Given the description of an element on the screen output the (x, y) to click on. 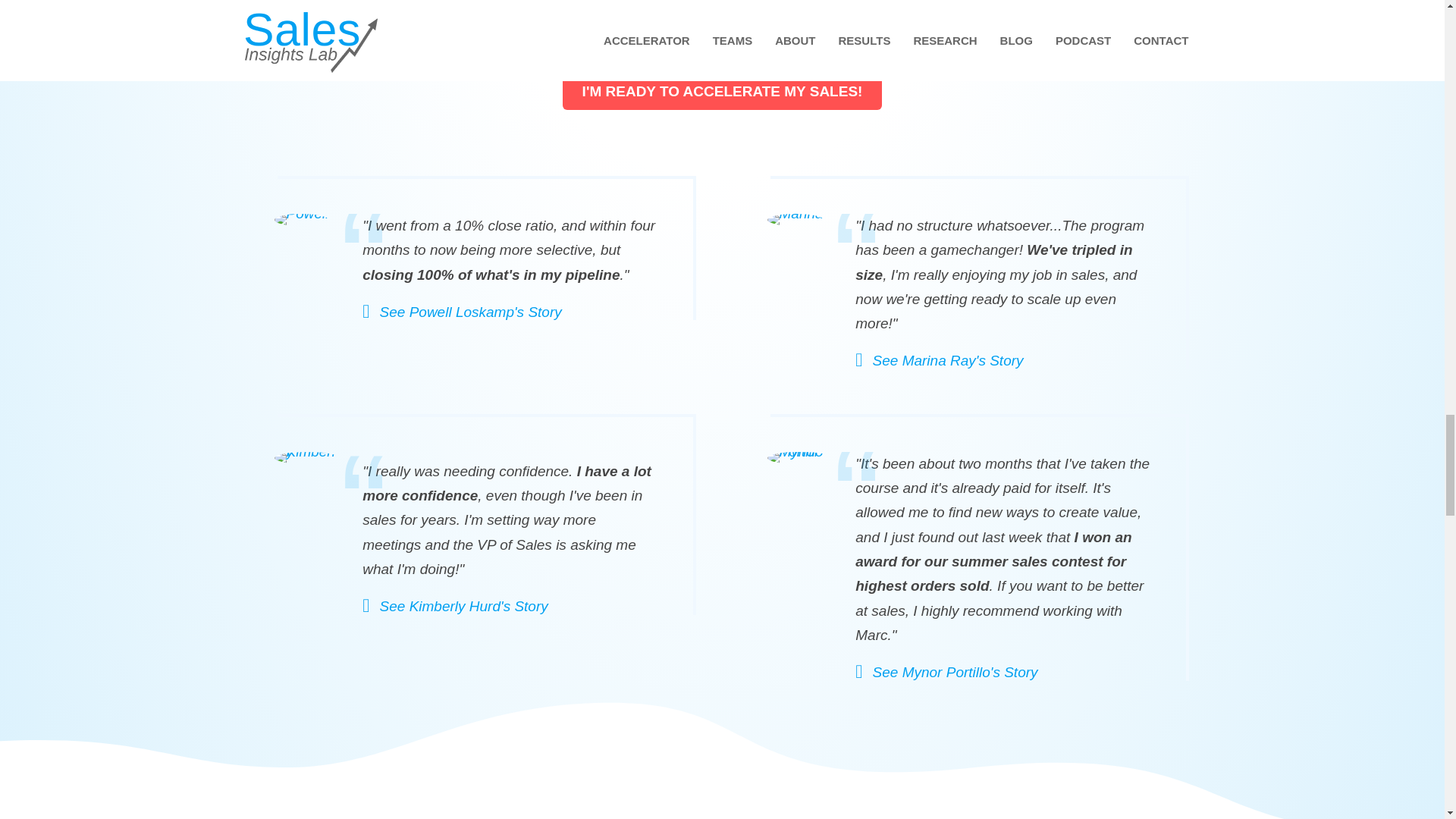
Kimberly (307, 458)
See Marina Ray'S Story (939, 360)
Powell (302, 219)
Mynor Portillo (799, 458)
See Powell Loskamp'S Story (462, 311)
See Mynor Portillo'S Story (946, 671)
Marina (795, 219)
I'M READY TO ACCELERATE MY SALES! (722, 90)
See Kimberly Hurd'S Story (455, 606)
